Given the description of an element on the screen output the (x, y) to click on. 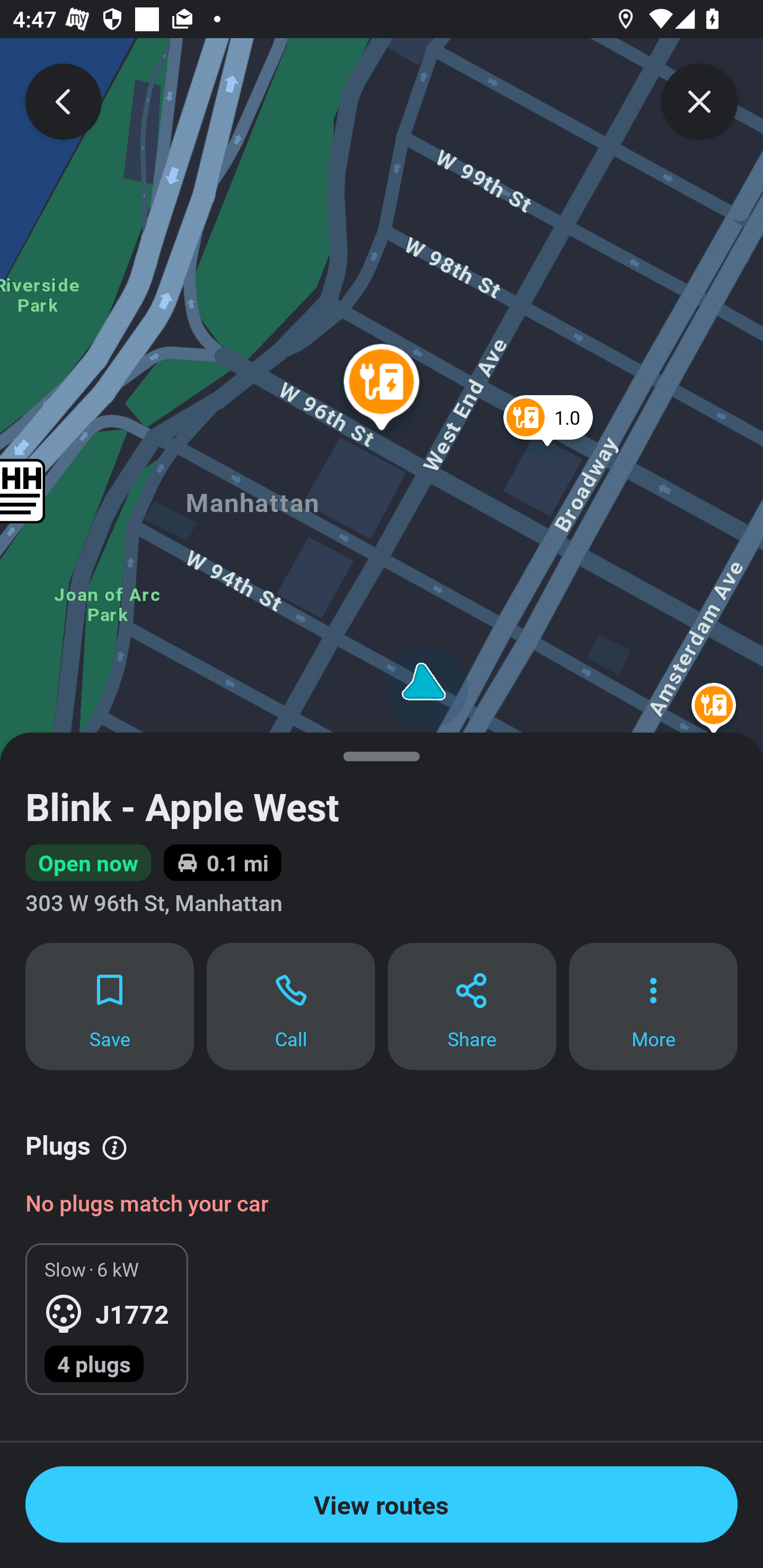
Save (109, 1005)
Call (290, 1005)
Share (471, 1005)
More (653, 1005)
View routes (381, 1504)
